Given the description of an element on the screen output the (x, y) to click on. 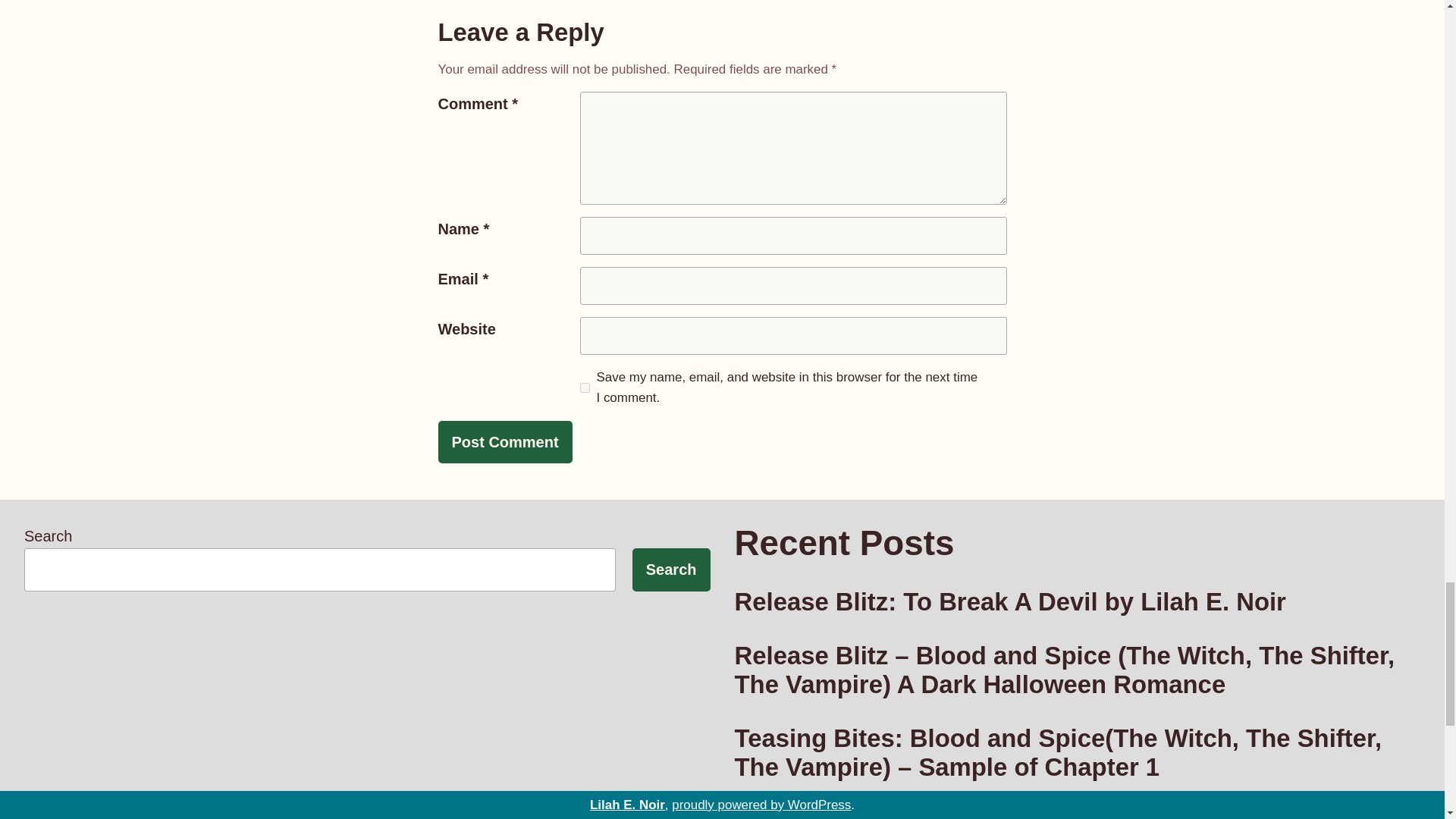
Post Comment (505, 441)
yes (584, 386)
